Given the description of an element on the screen output the (x, y) to click on. 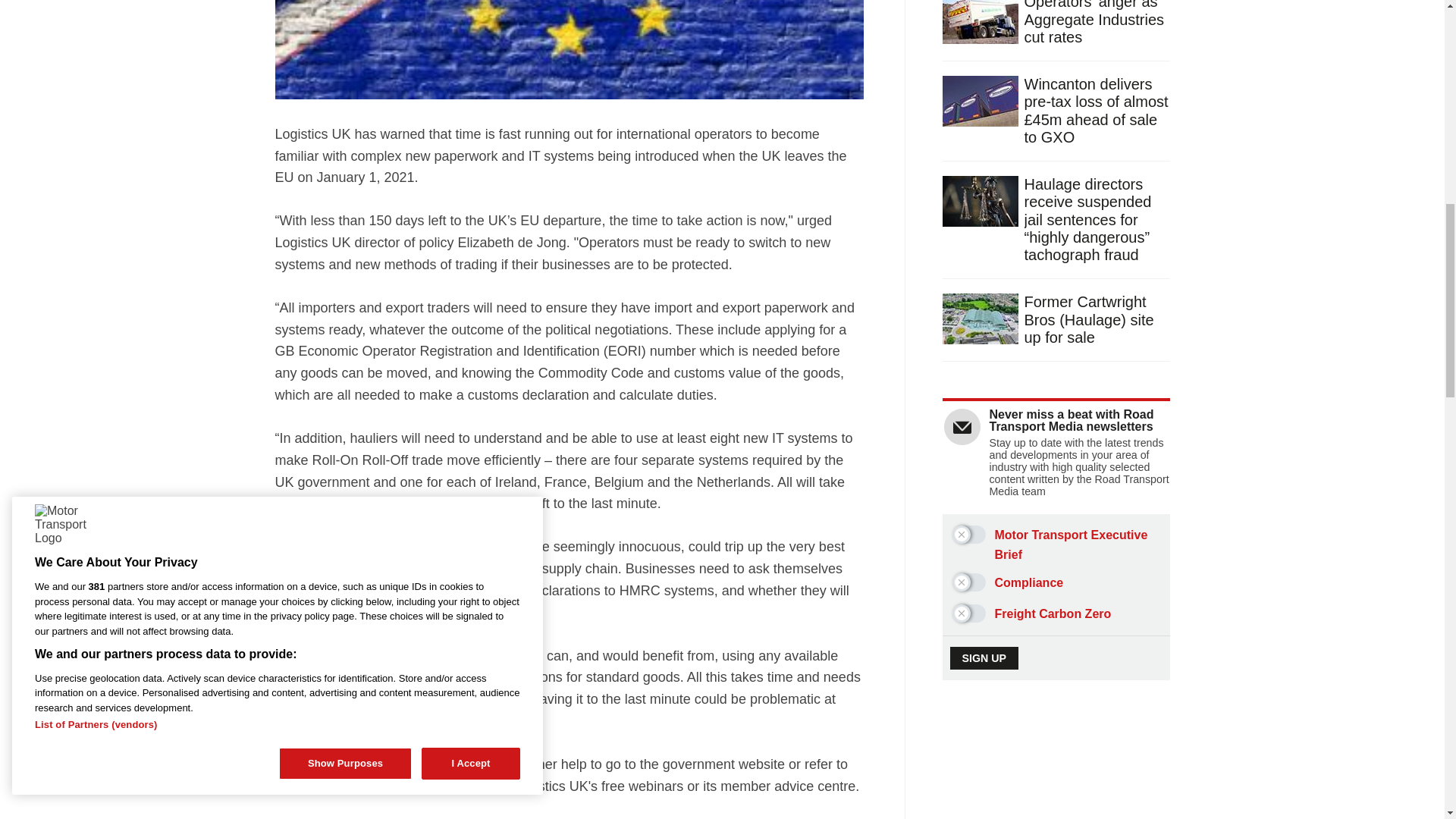
3rd party ad content (1056, 779)
